Given the description of an element on the screen output the (x, y) to click on. 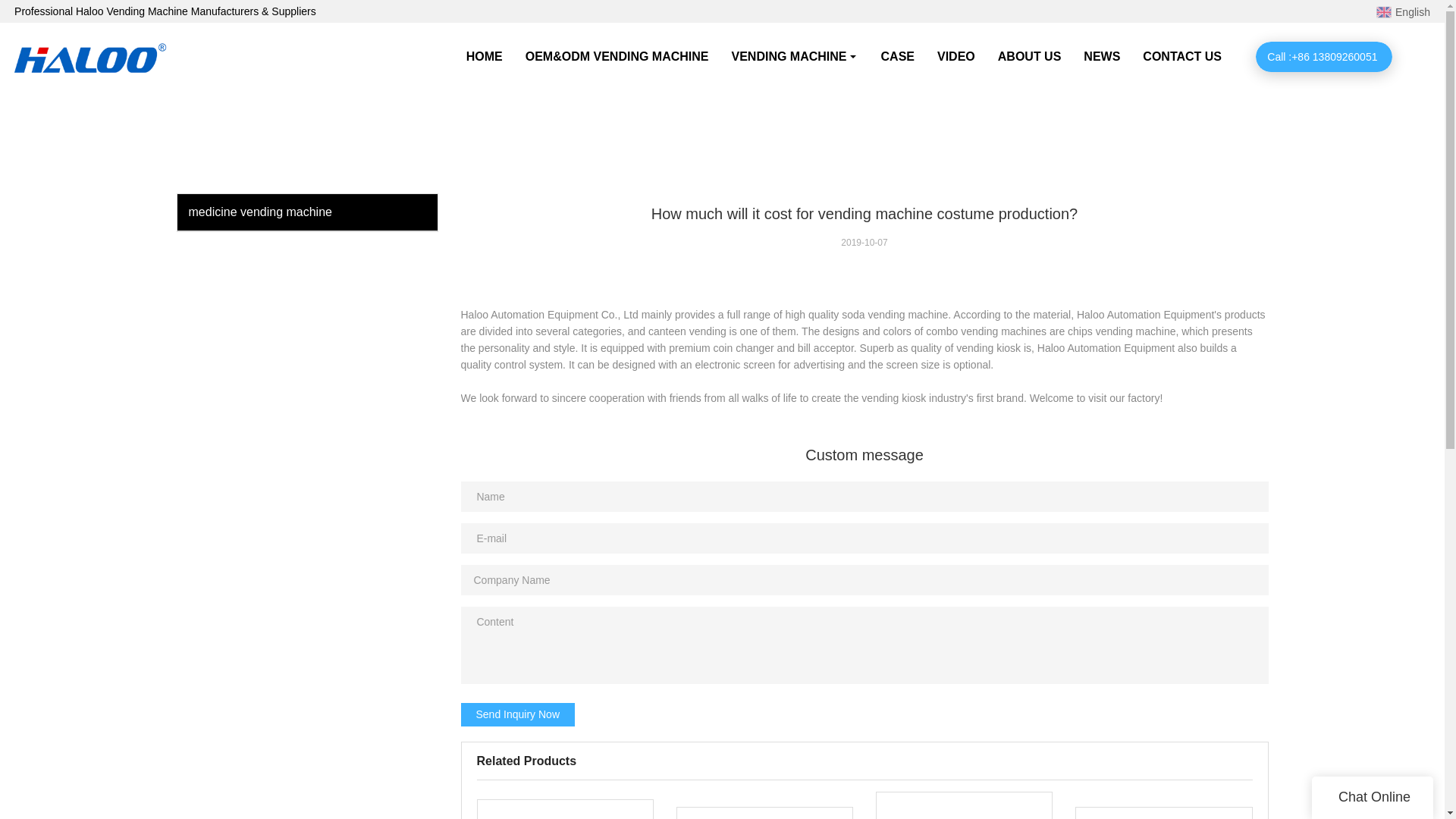
CONTACT US (1182, 56)
VENDING MACHINE (794, 56)
subway bus station drink vending machine with refrigerator (765, 812)
ABOUT US (1030, 56)
Send Inquiry Now (518, 713)
